Given the description of an element on the screen output the (x, y) to click on. 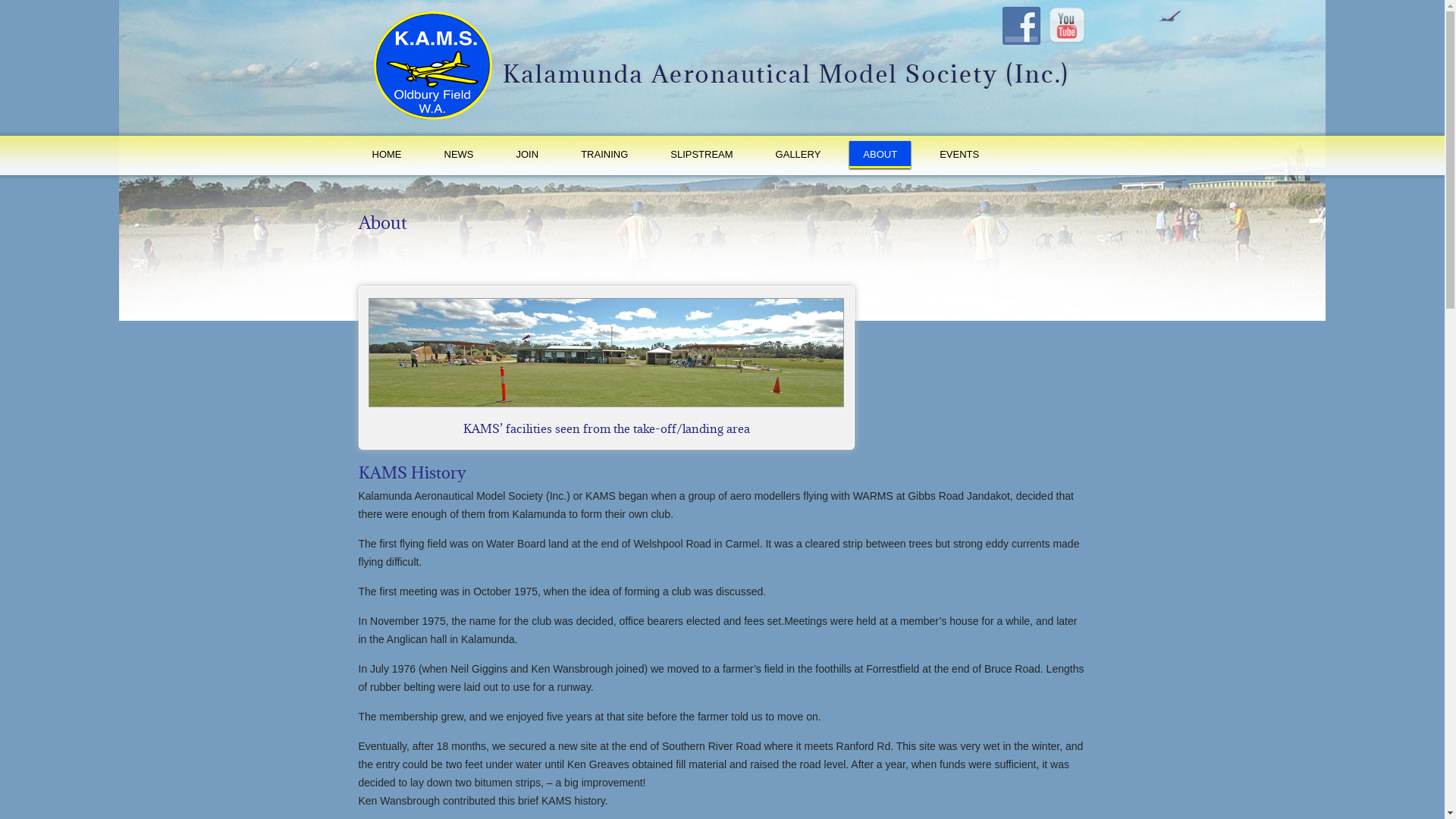
NEWS Element type: text (458, 154)
TRAINING Element type: text (604, 154)
Follow Us on Facebook Element type: hover (1021, 25)
Follow Us on YouTube Element type: hover (1066, 25)
ABOUT Element type: text (879, 154)
HOME Element type: text (385, 154)
JOIN Element type: text (527, 154)
SLIPSTREAM Element type: text (701, 154)
GALLERY Element type: text (798, 154)
EVENTS Element type: text (958, 154)
